Given the description of an element on the screen output the (x, y) to click on. 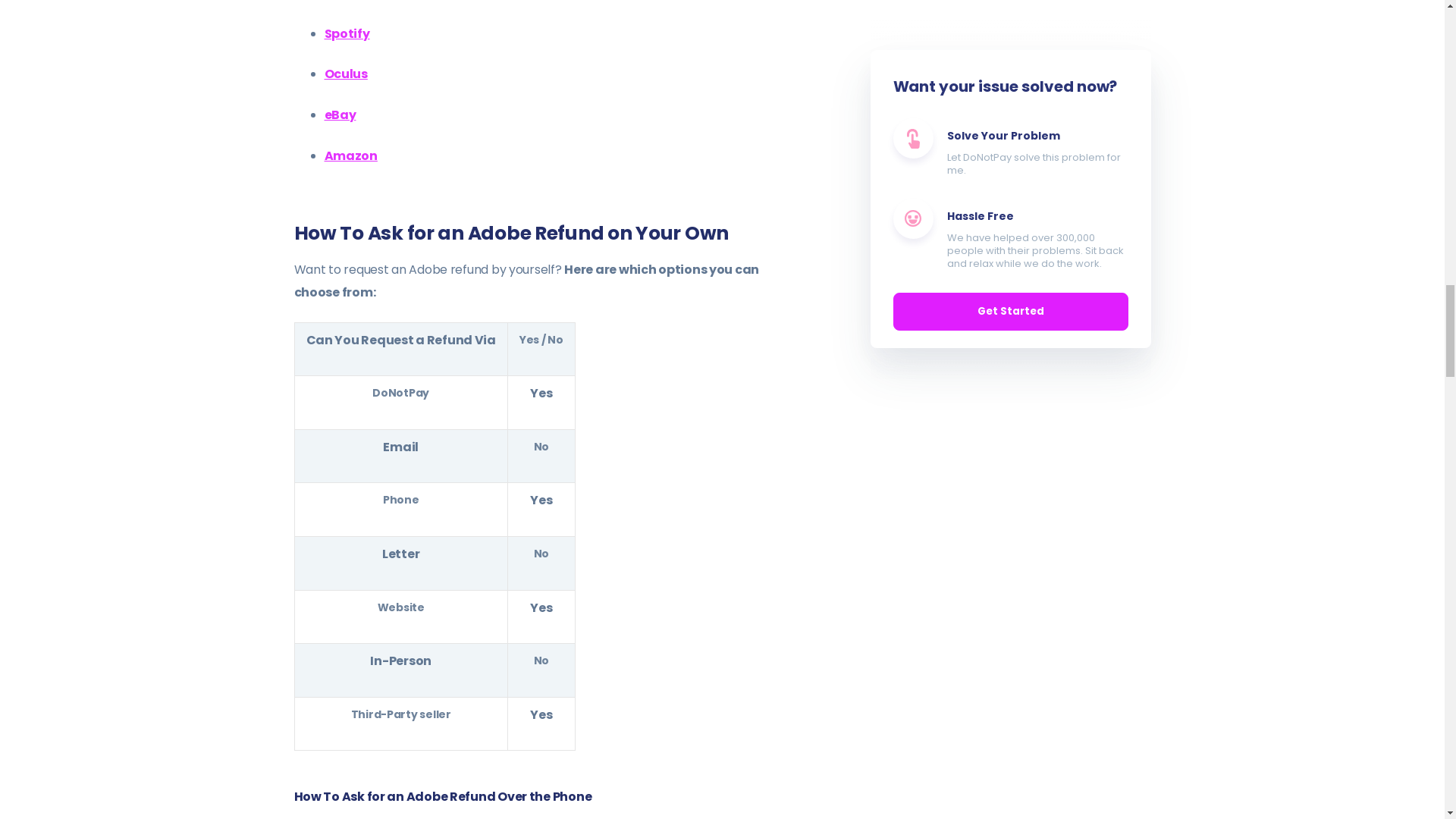
Amazon (350, 155)
eBay (340, 114)
Spotify (346, 33)
Venmo (346, 0)
Oculus (346, 73)
